Given the description of an element on the screen output the (x, y) to click on. 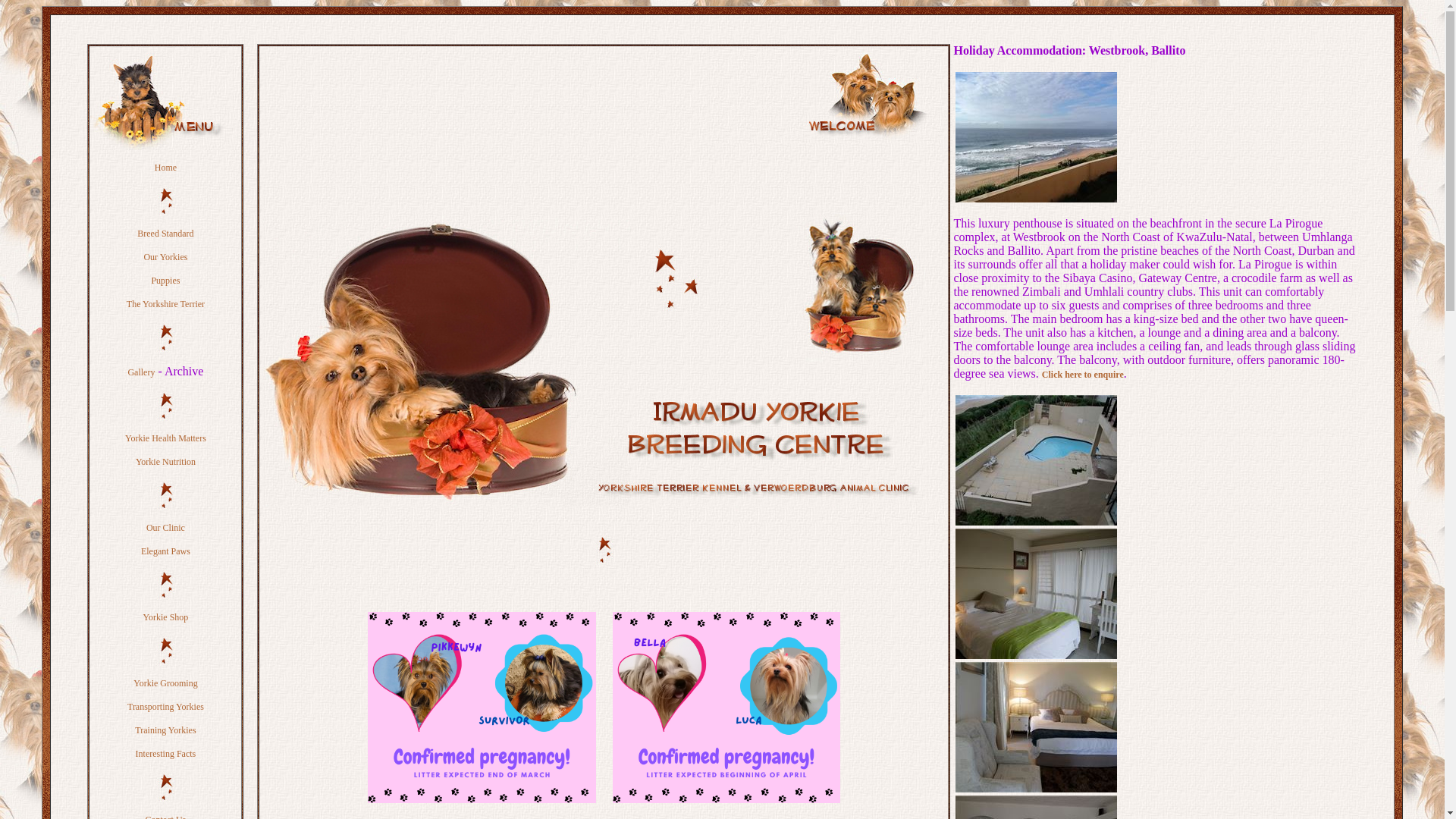
Interesting Facts (165, 753)
Yorkie Health Matters (165, 438)
Elegant Paws (165, 551)
Contact Us (165, 816)
Puppies (165, 280)
Training Yorkies (165, 729)
Click here to enquire (1083, 374)
Yorkie Shop (165, 616)
Yorkie Nutrition (165, 461)
Our Clinic (165, 527)
Gallery (141, 371)
Transporting Yorkies (165, 706)
The Yorkshire Terrier (165, 303)
Yorkie Grooming (164, 683)
Breed Standard (164, 233)
